Given the description of an element on the screen output the (x, y) to click on. 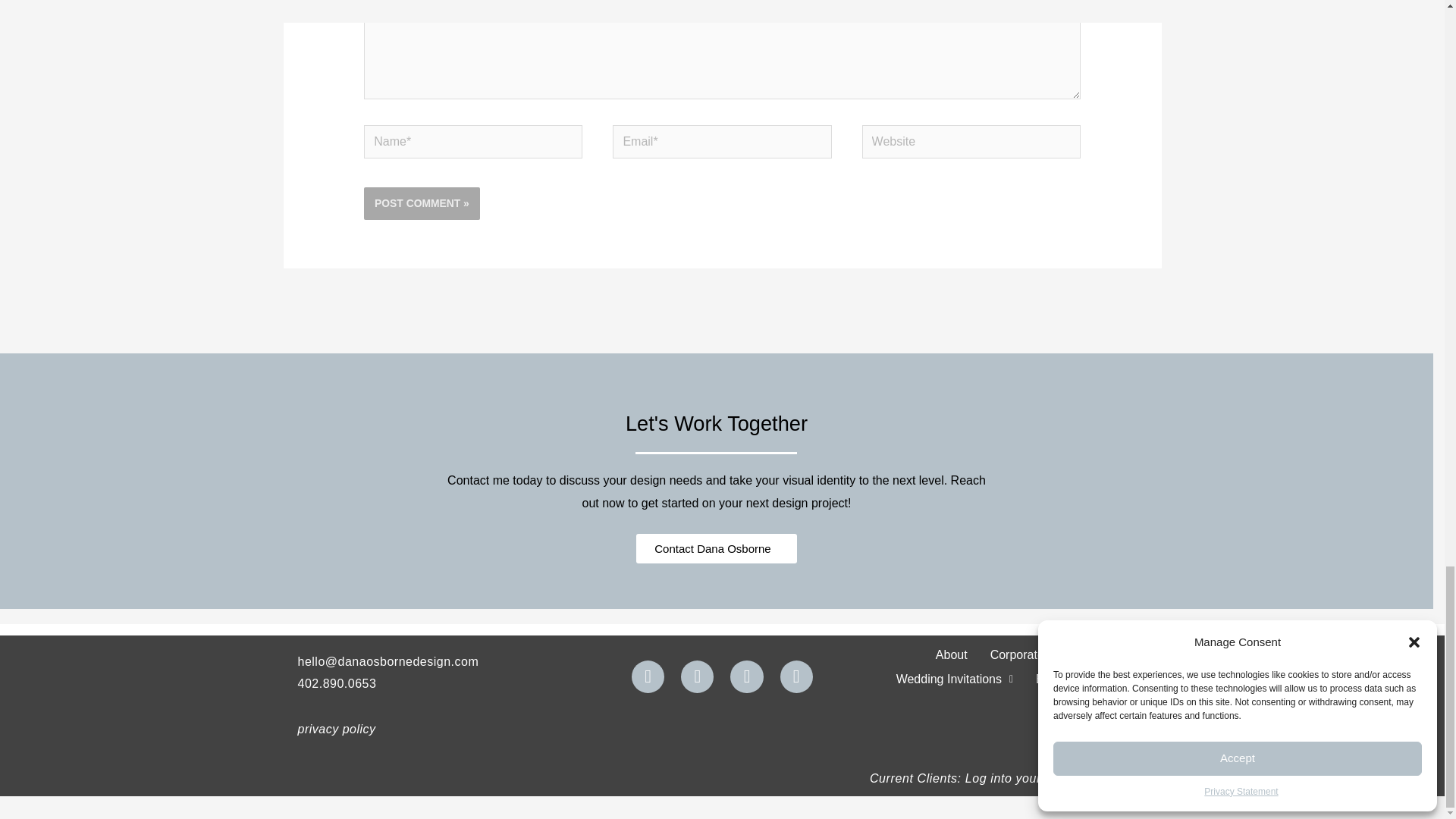
Twitter (697, 676)
privacy policy (336, 728)
Instagram (746, 676)
Corporate Design (1037, 654)
Facebook (647, 676)
Contact Dana Osborne (716, 548)
Pinterest (796, 676)
About (951, 654)
